Given the description of an element on the screen output the (x, y) to click on. 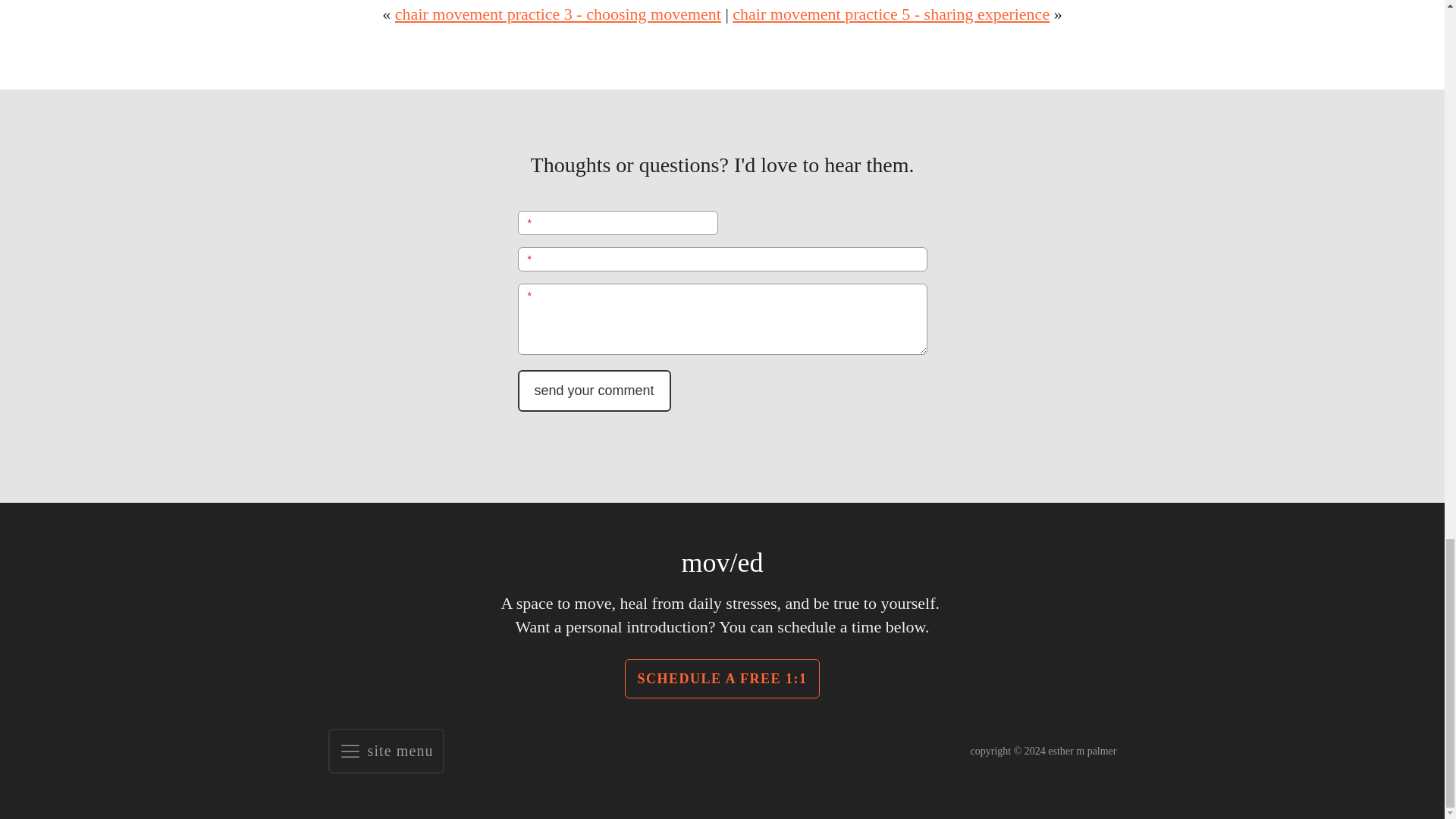
chair movement practice 3 - choosing movement (557, 13)
chair movement practice 5 - sharing experience (890, 13)
send your comment (592, 390)
SCHEDULE A FREE 1:1 (721, 678)
